Given the description of an element on the screen output the (x, y) to click on. 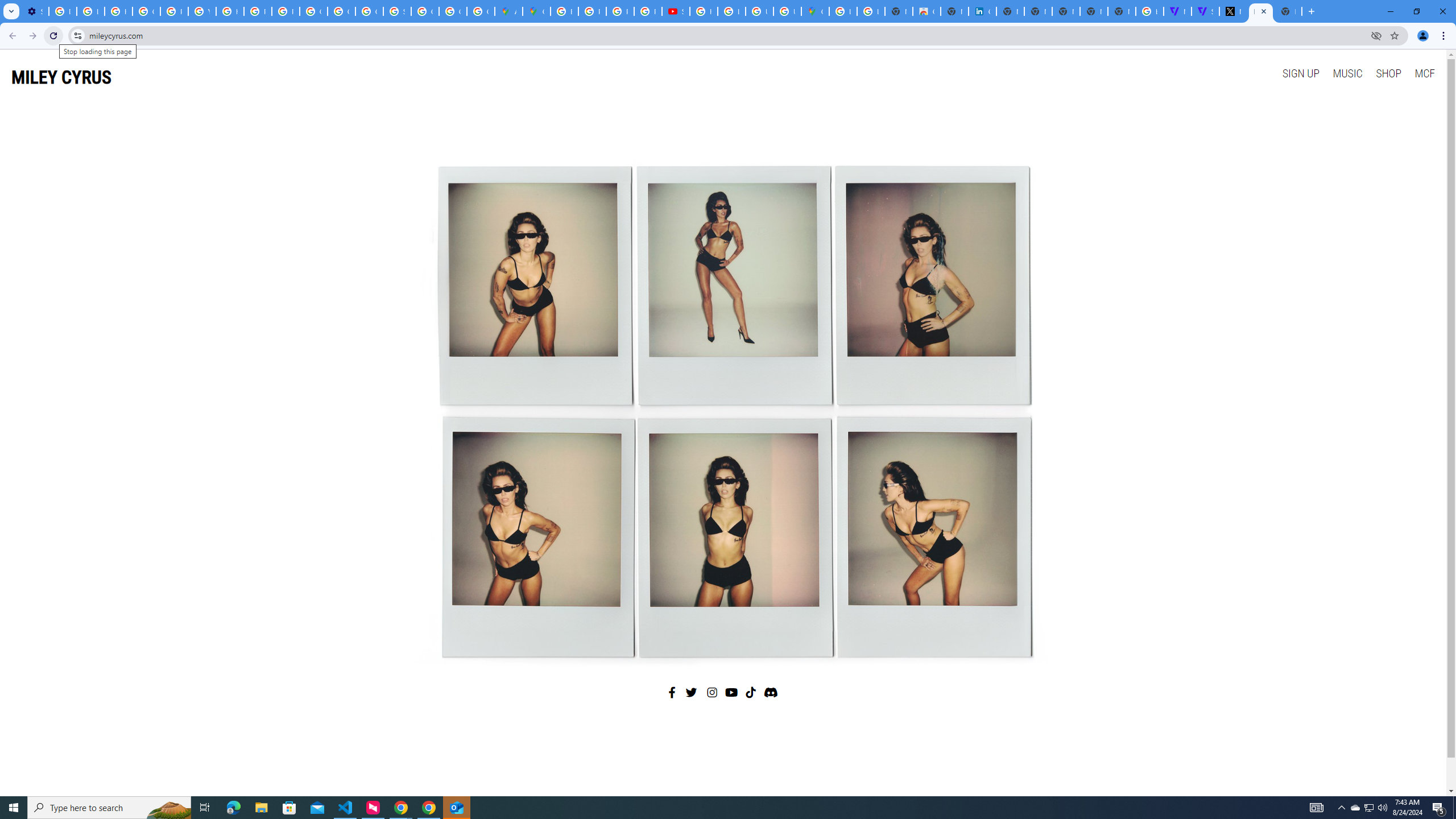
New Tab (1288, 11)
MILEY CYRUS. (1260, 11)
